Given the description of an element on the screen output the (x, y) to click on. 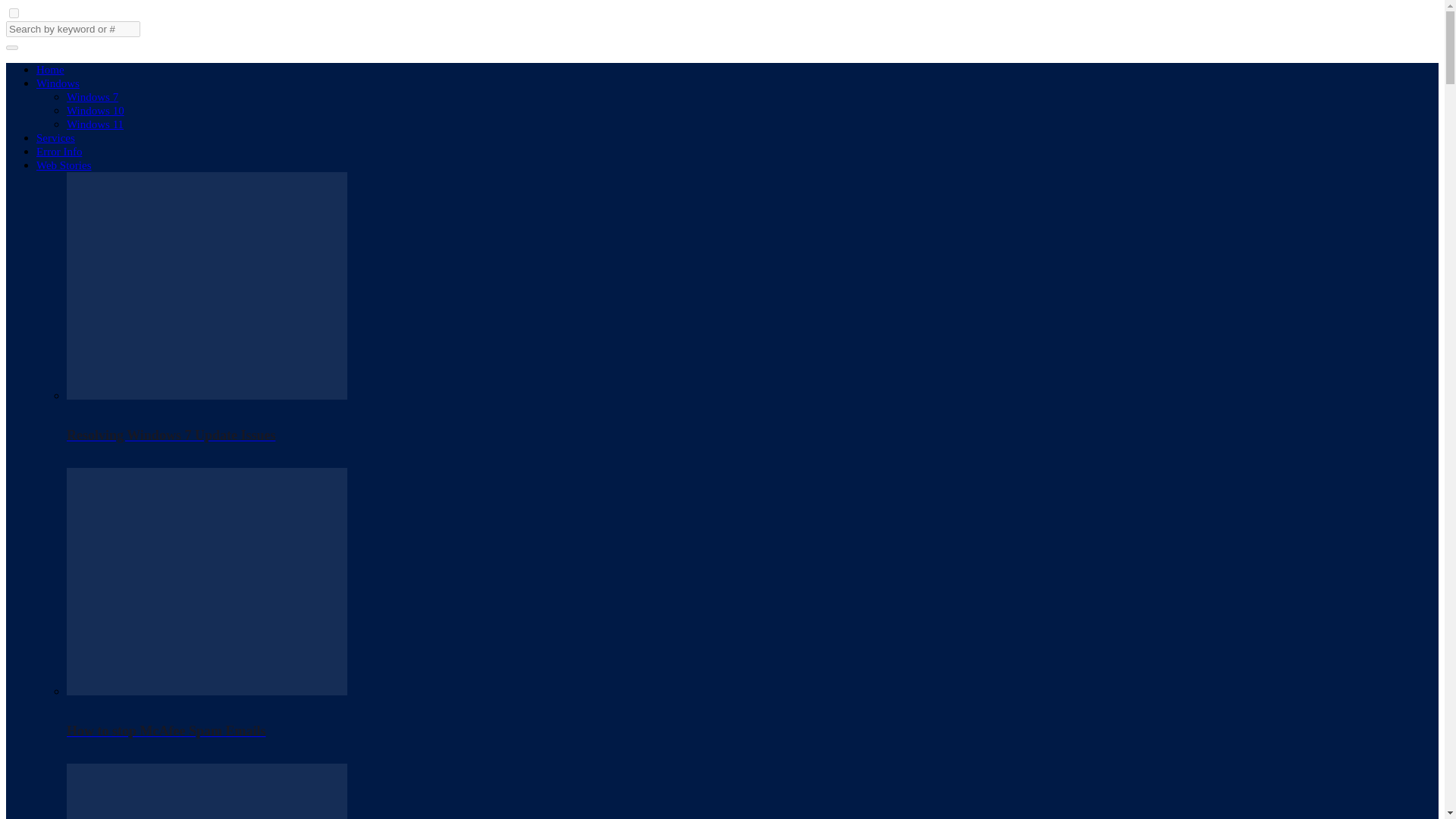
Web Stories (63, 164)
Windows 11 (94, 123)
Windows 7 (91, 96)
Services (55, 137)
Home (50, 69)
Error Info (58, 151)
on (13, 13)
Search (11, 47)
Windows 10 (94, 110)
Windows (58, 82)
